Given the description of an element on the screen output the (x, y) to click on. 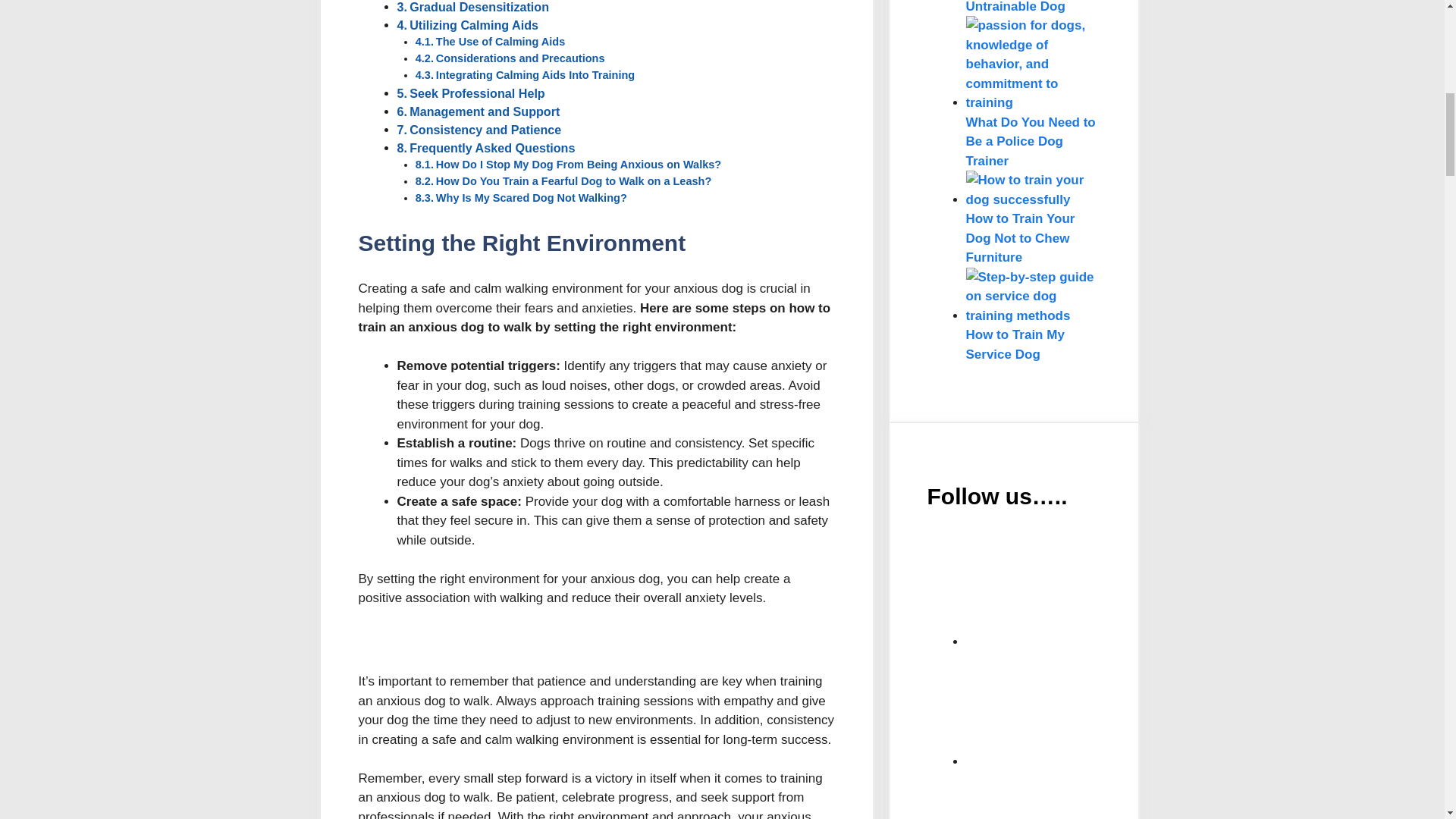
Management and Support (484, 110)
Seek Professional Help (476, 92)
Email (1079, 589)
Pinterest (1079, 795)
The Use of Calming Aids (499, 41)
Considerations and Precautions (520, 58)
Frequently Asked Questions (492, 147)
Facebook (1079, 708)
Integrating Calming Aids Into Training (534, 74)
Utilizing Calming Aids (473, 24)
